Given the description of an element on the screen output the (x, y) to click on. 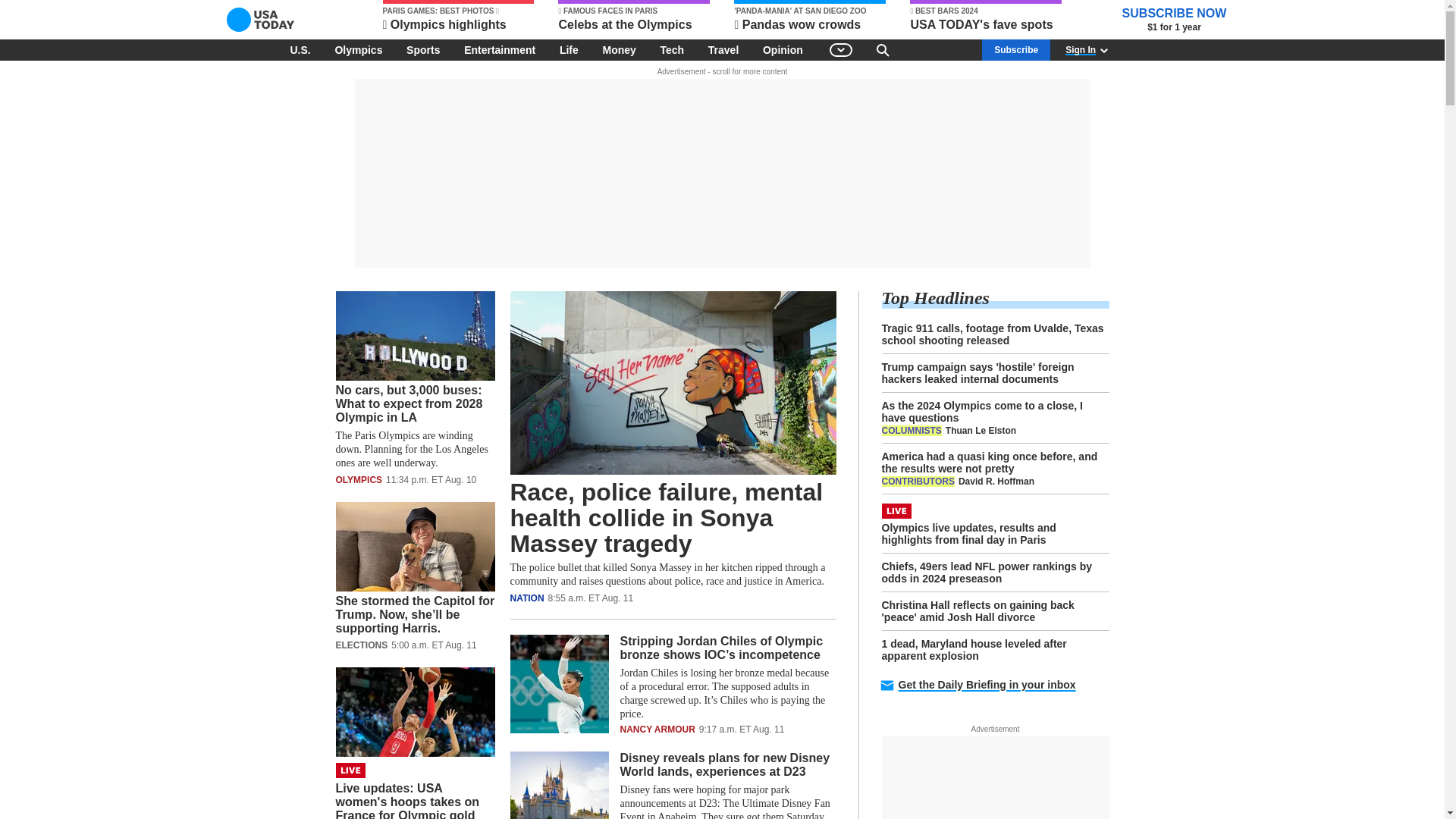
Life (568, 49)
U.S. (299, 49)
Tech (671, 49)
USA TODAY's fave spots (985, 17)
Olympics (358, 49)
Search (882, 49)
Opinion (782, 49)
Entertainment (500, 49)
Travel (722, 49)
3rd party ad content (721, 173)
